Given the description of an element on the screen output the (x, y) to click on. 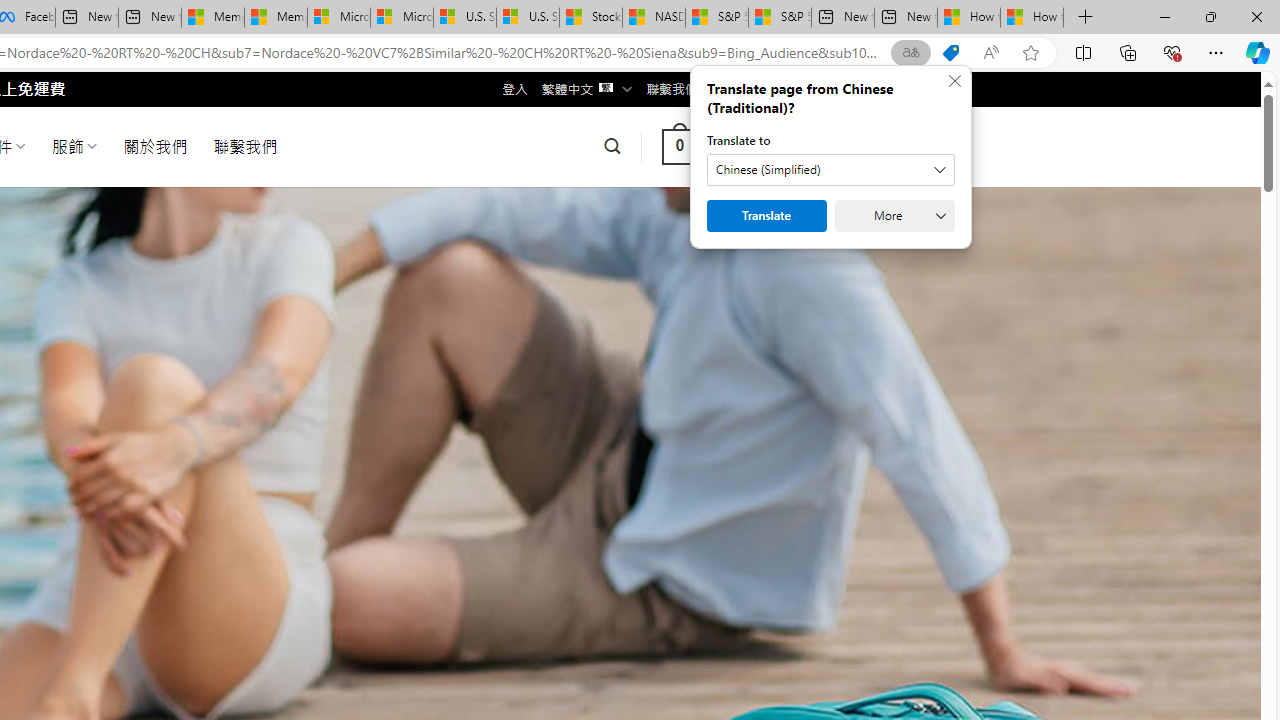
New Tab (1085, 17)
  0   (679, 146)
Browser essentials (1171, 52)
Add this page to favorites (Ctrl+D) (1030, 53)
Show translate options (910, 53)
Settings and more (Alt+F) (1215, 52)
